Given the description of an element on the screen output the (x, y) to click on. 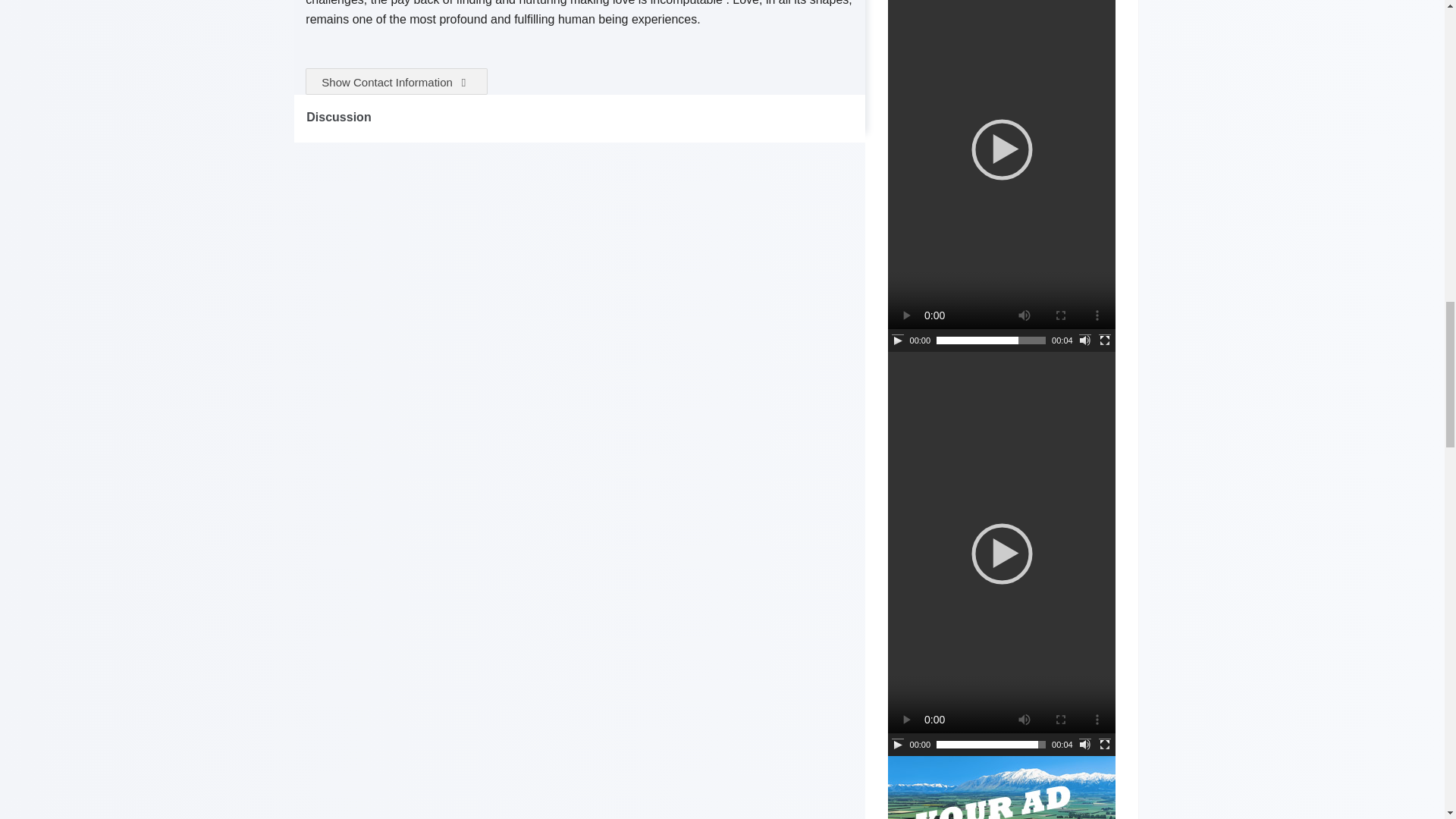
Fullscreen (1104, 340)
Show Contact Information (396, 81)
Fullscreen (1104, 744)
Play (897, 340)
Mute (1084, 340)
Mute (1084, 744)
Play (897, 744)
